Given the description of an element on the screen output the (x, y) to click on. 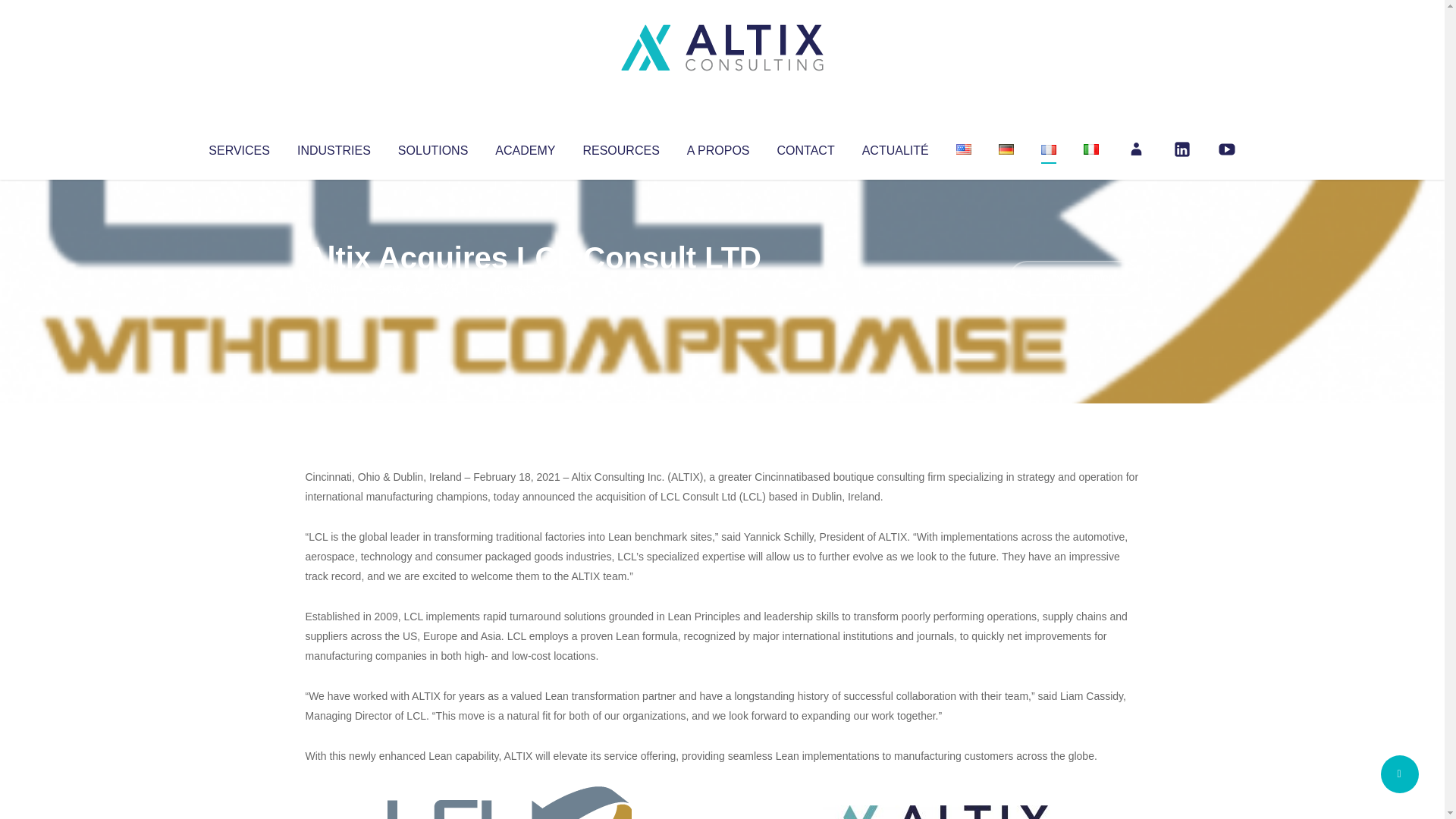
SERVICES (238, 146)
RESOURCES (620, 146)
ACADEMY (524, 146)
Altix (333, 287)
Uncategorized (530, 287)
INDUSTRIES (334, 146)
SOLUTIONS (432, 146)
A PROPOS (718, 146)
Articles par Altix (333, 287)
No Comments (1073, 278)
